Given the description of an element on the screen output the (x, y) to click on. 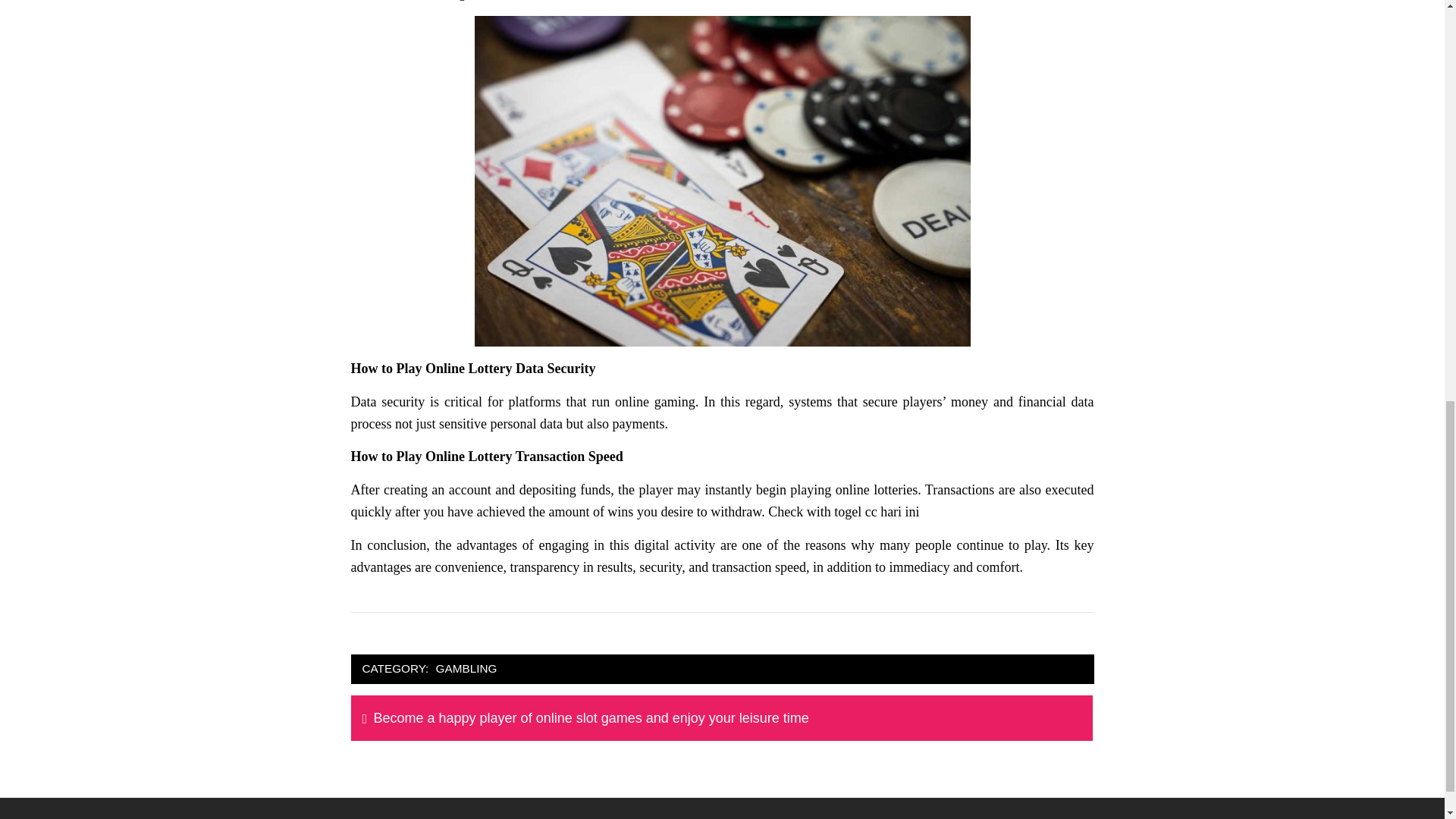
GAMBLING (466, 669)
